Given the description of an element on the screen output the (x, y) to click on. 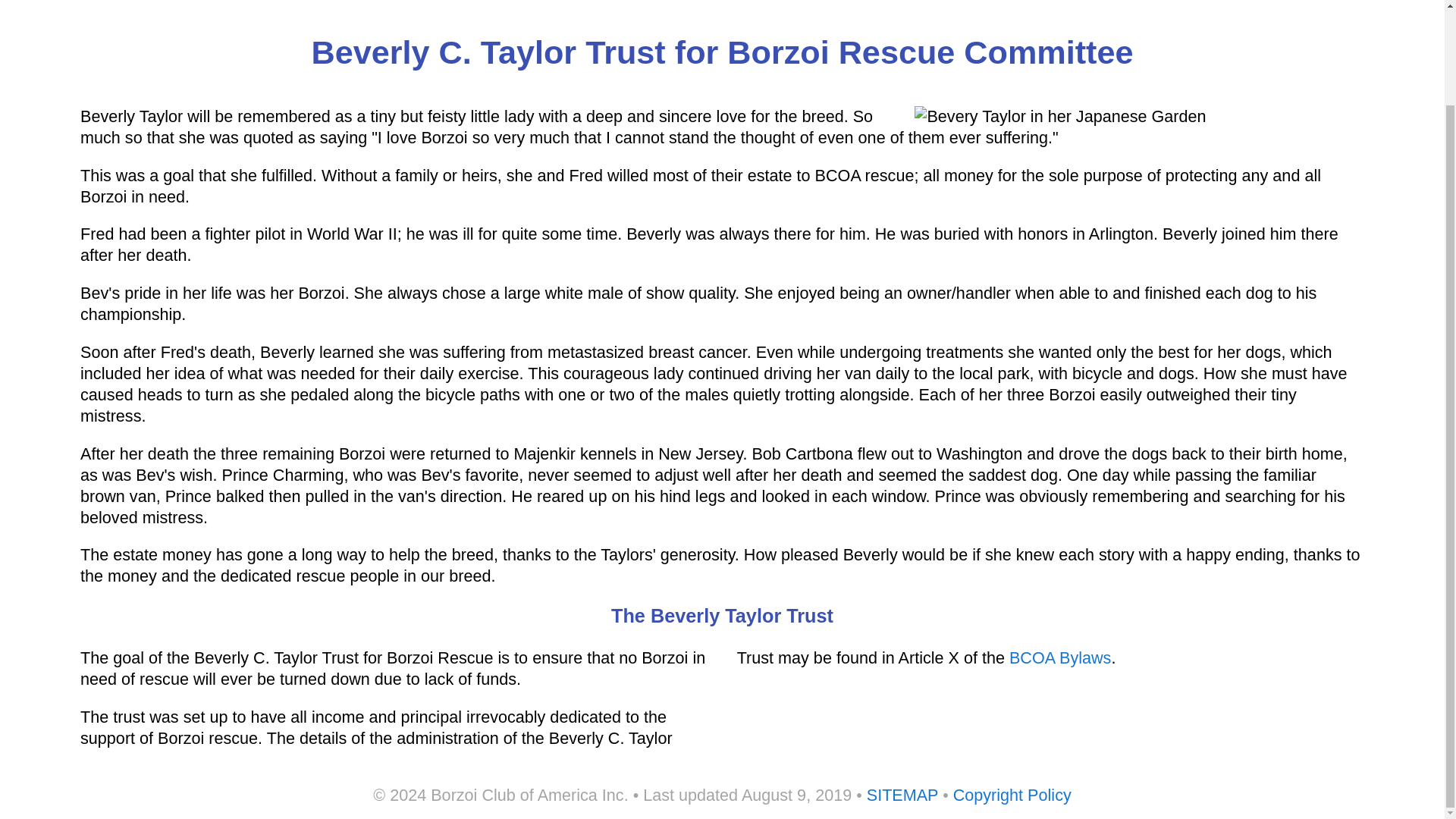
Welfare (436, 0)
AboutBorzoi (324, 0)
InsideBCOA (195, 0)
